Given the description of an element on the screen output the (x, y) to click on. 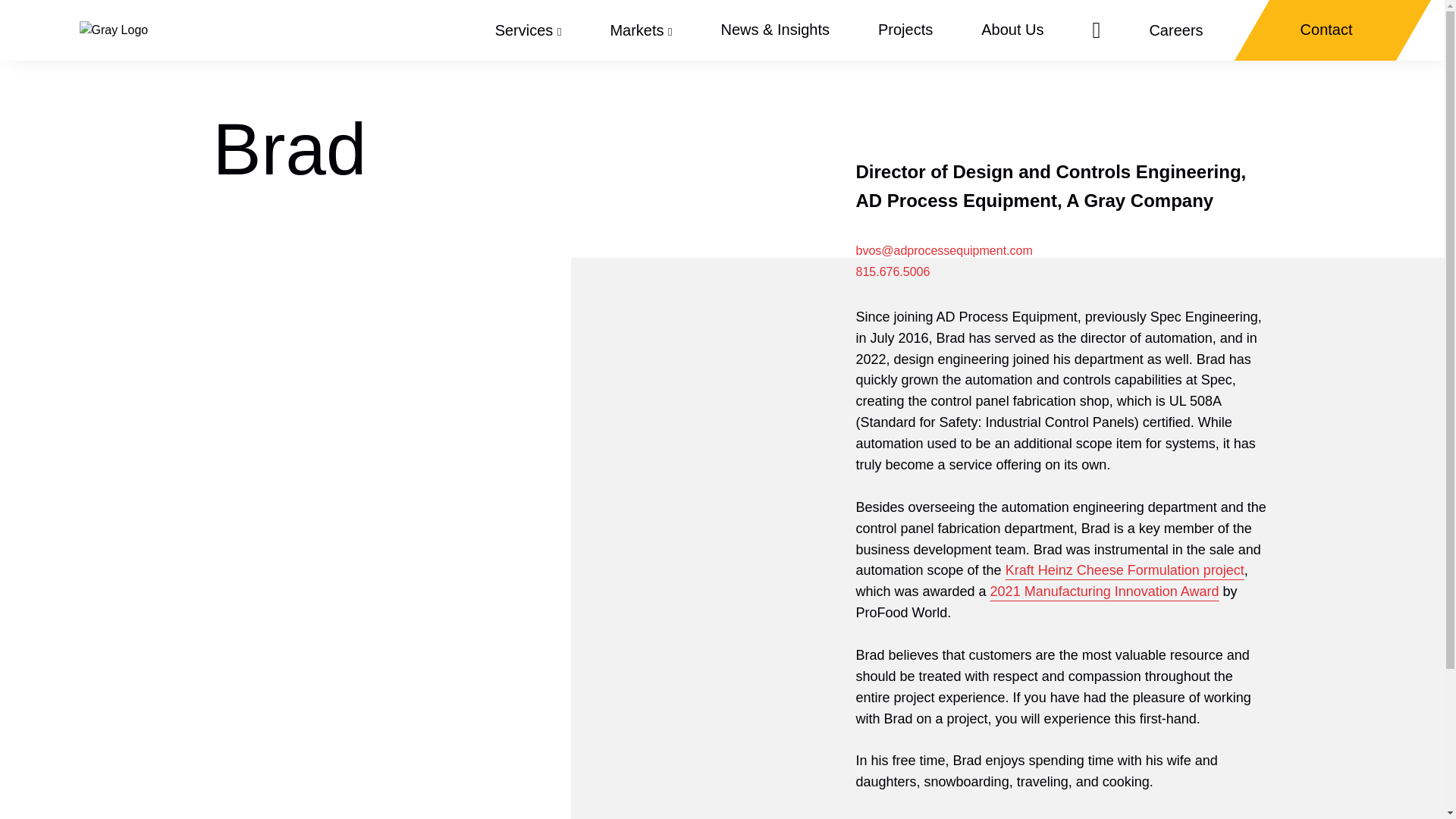
Services (528, 30)
